Given the description of an element on the screen output the (x, y) to click on. 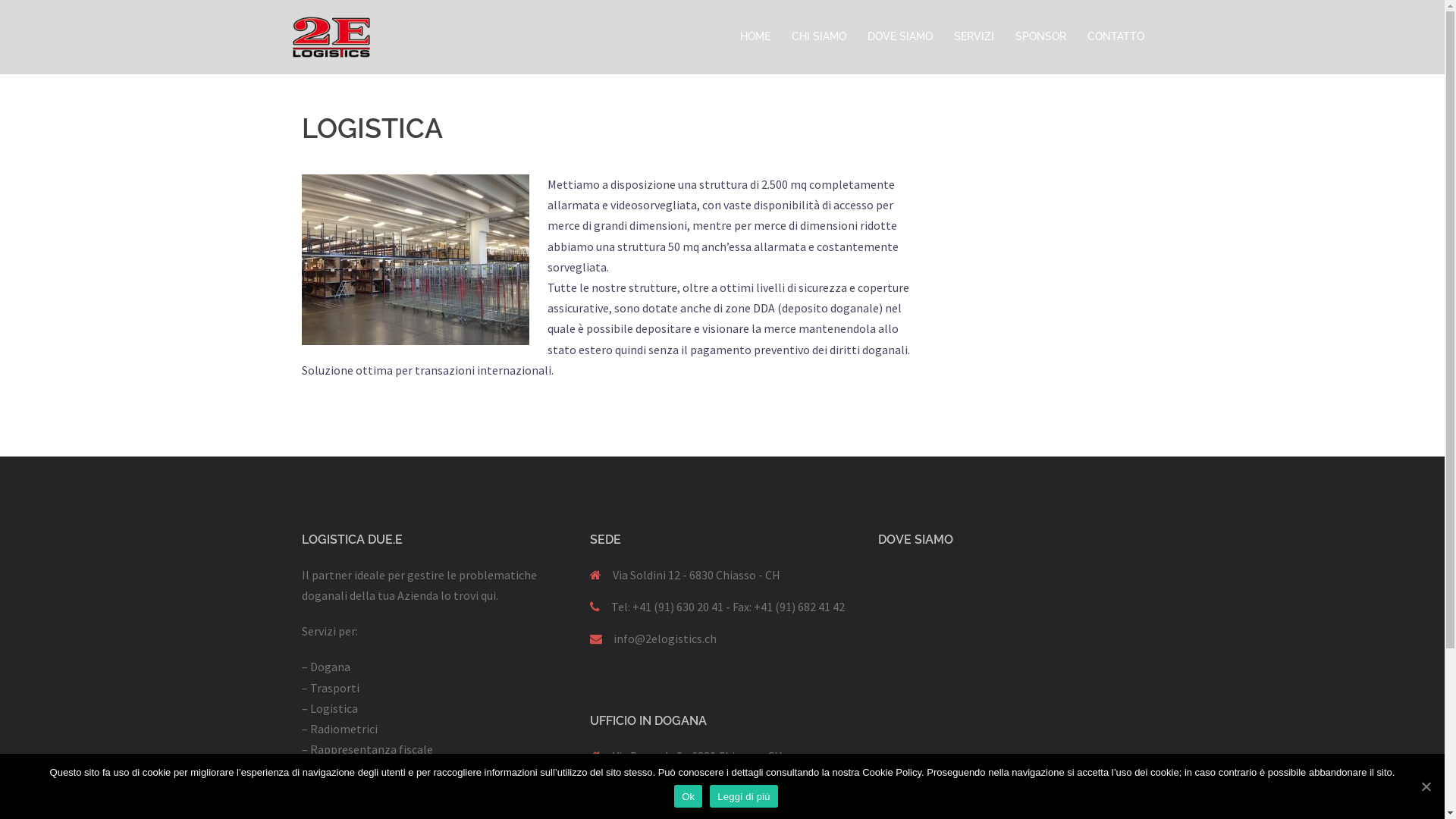
DOVE SIAMO Element type: text (899, 37)
HOME Element type: text (755, 37)
info@2elogistics.ch Element type: text (663, 638)
SPONSOR Element type: text (1039, 37)
CHI SIAMO Element type: text (818, 37)
Ok Element type: text (688, 795)
LOGISTICA DUE.E Element type: hover (330, 35)
SERVIZI Element type: text (973, 37)
Vai al contenuto Element type: text (0, 0)
CONTATTO Element type: text (1115, 37)
